Given the description of an element on the screen output the (x, y) to click on. 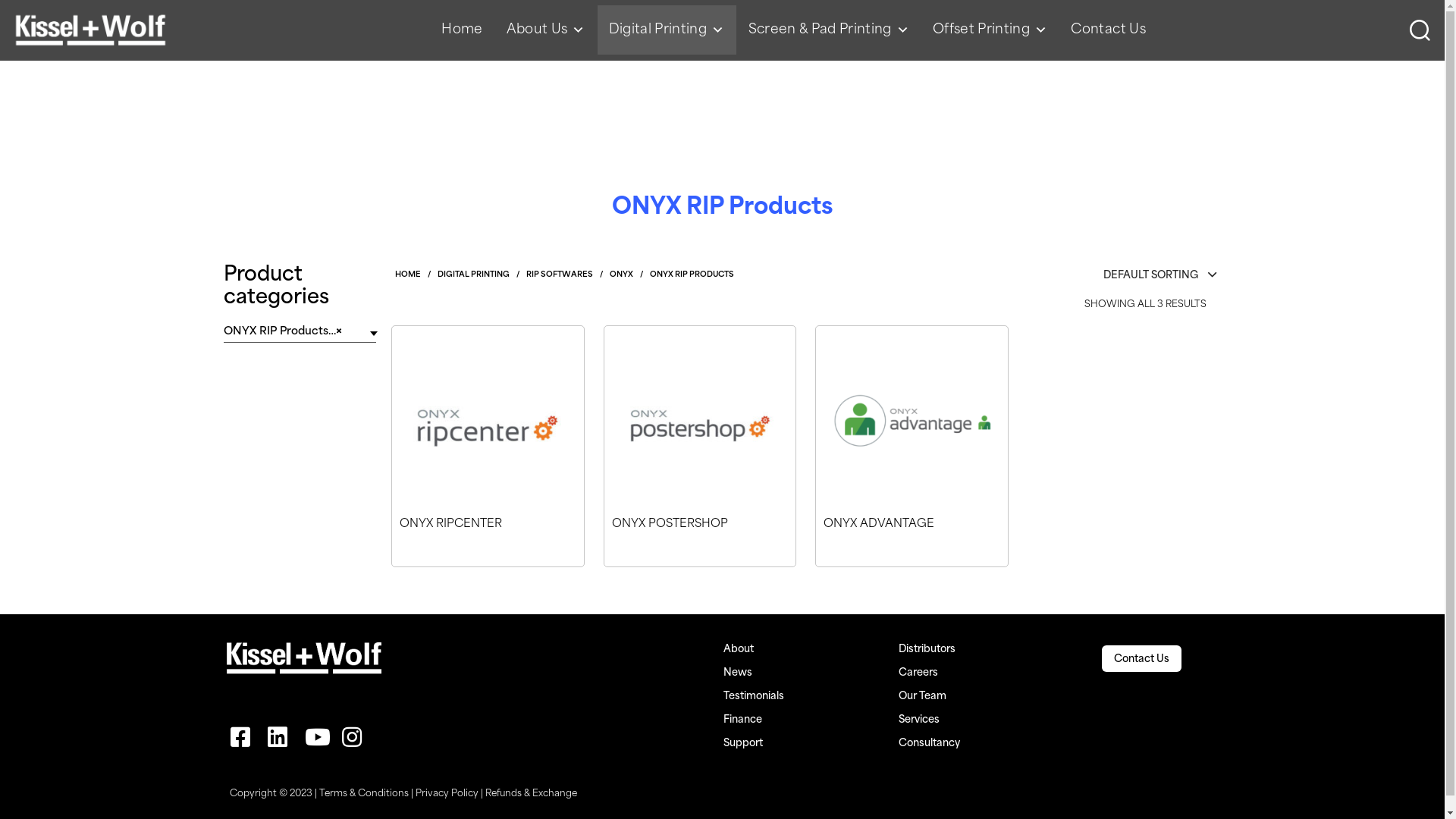
Services Element type: text (918, 719)
Consultancy Element type: text (929, 743)
Privacy Policy Element type: text (446, 794)
Screen & Pad Printing Element type: text (828, 29)
Our Team Element type: text (922, 696)
Home Element type: text (461, 29)
DIGITAL PRINTING Element type: text (473, 274)
News Element type: text (737, 672)
Careers Element type: text (918, 672)
Contact Us Element type: text (1141, 659)
Distributors Element type: text (926, 649)
RIP SOFTWARES Element type: text (559, 274)
Finance Element type: text (742, 719)
ONYX ADVANTAGE Element type: text (878, 541)
ONYX RIPCENTER Element type: text (450, 541)
ONYX POSTERSHOP Element type: text (668, 541)
Testimonials Element type: text (753, 696)
Refunds & Exchange Element type: text (531, 794)
Terms & Conditions Element type: text (362, 794)
Support Element type: text (742, 743)
ONYX Element type: text (621, 274)
Contact Us Element type: text (1107, 29)
Digital Printing Element type: text (666, 29)
Offset Printing Element type: text (989, 29)
About Element type: text (738, 649)
HOME Element type: text (407, 274)
About Us Element type: text (545, 29)
